Given the description of an element on the screen output the (x, y) to click on. 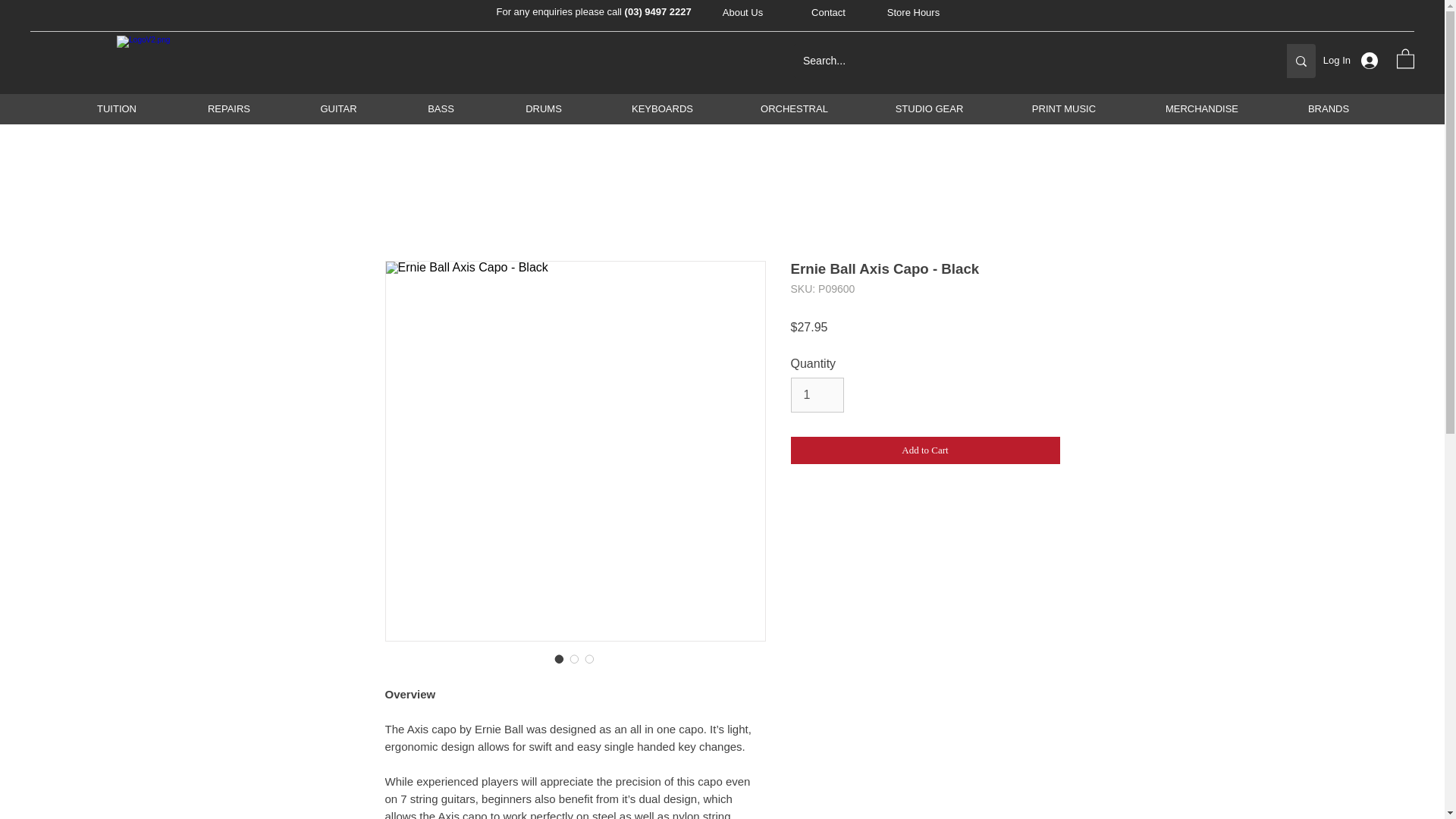
TUITION (117, 108)
Contact (828, 12)
Log In (1356, 60)
1 (817, 394)
REPAIRS (228, 108)
Store Hours (913, 12)
